Given the description of an element on the screen output the (x, y) to click on. 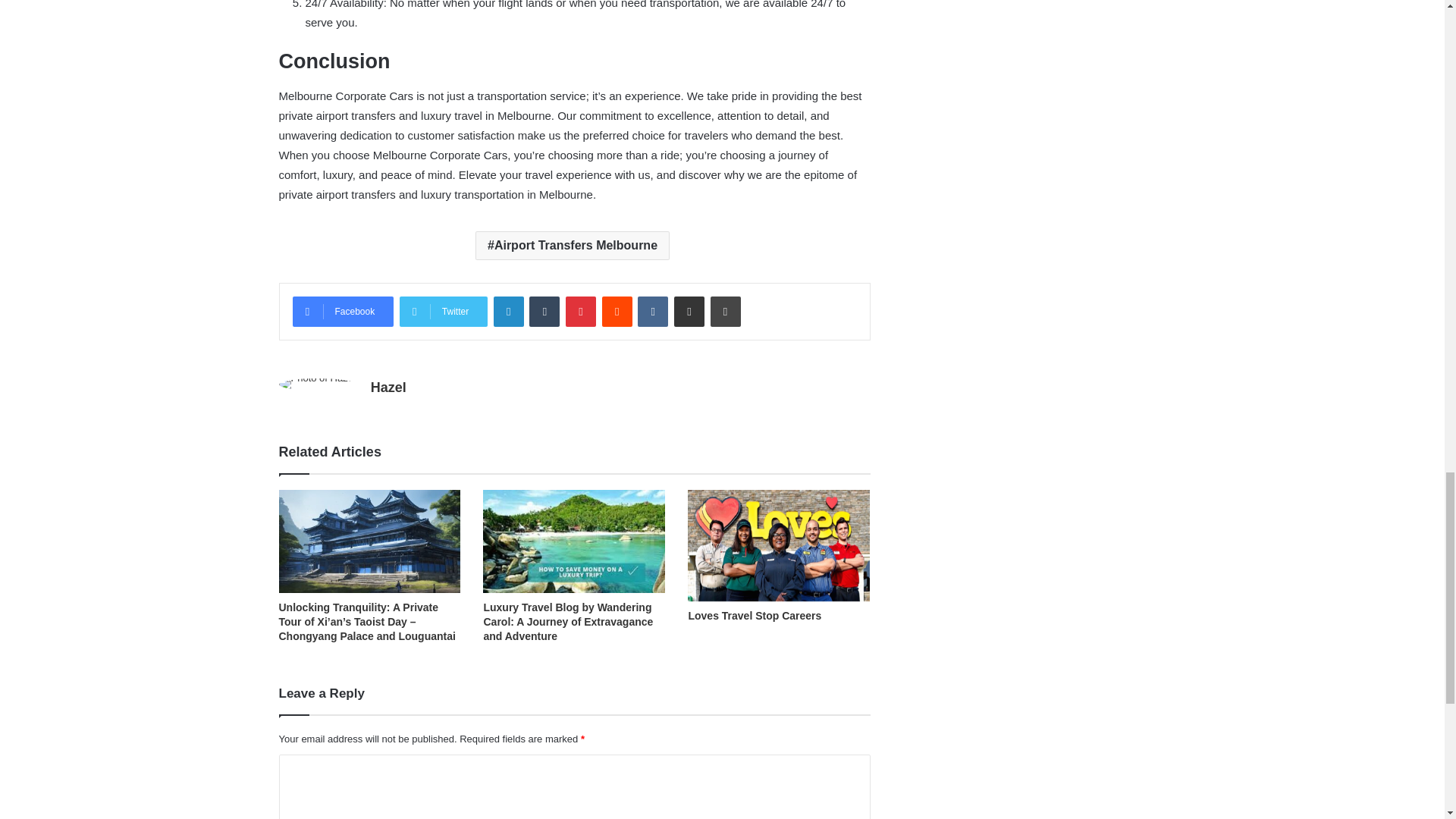
LinkedIn (508, 311)
Share via Email (689, 311)
Hazel (388, 387)
Facebook (343, 311)
Tumblr (544, 311)
Twitter (442, 311)
Share via Email (689, 311)
VKontakte (652, 311)
Print (725, 311)
